Given the description of an element on the screen output the (x, y) to click on. 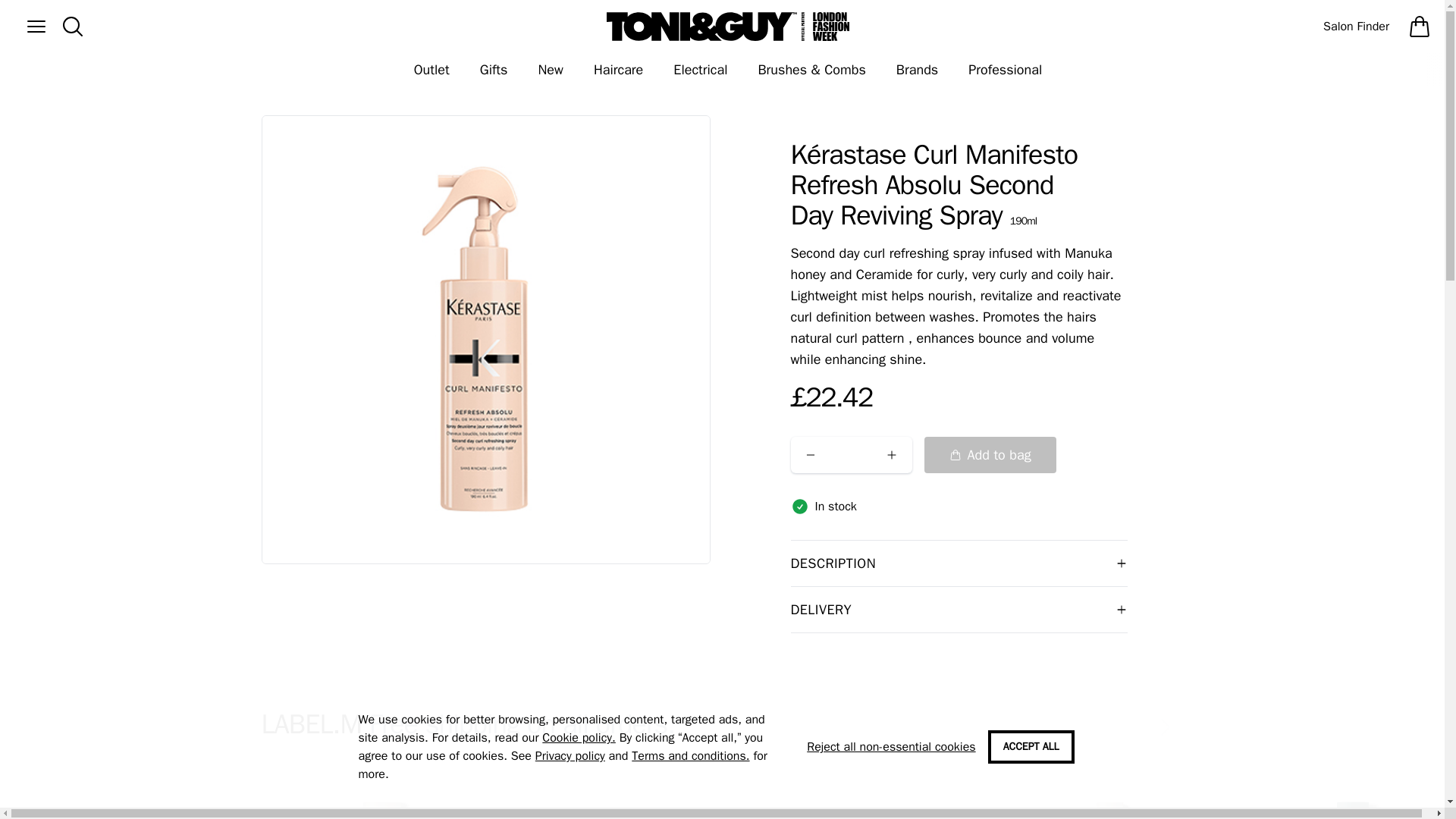
Haircare (618, 69)
Gifts (493, 69)
New (550, 69)
Electrical (700, 69)
Salon Finder (1356, 26)
Outlet (431, 69)
Brands (916, 69)
Professional (1005, 69)
